Given the description of an element on the screen output the (x, y) to click on. 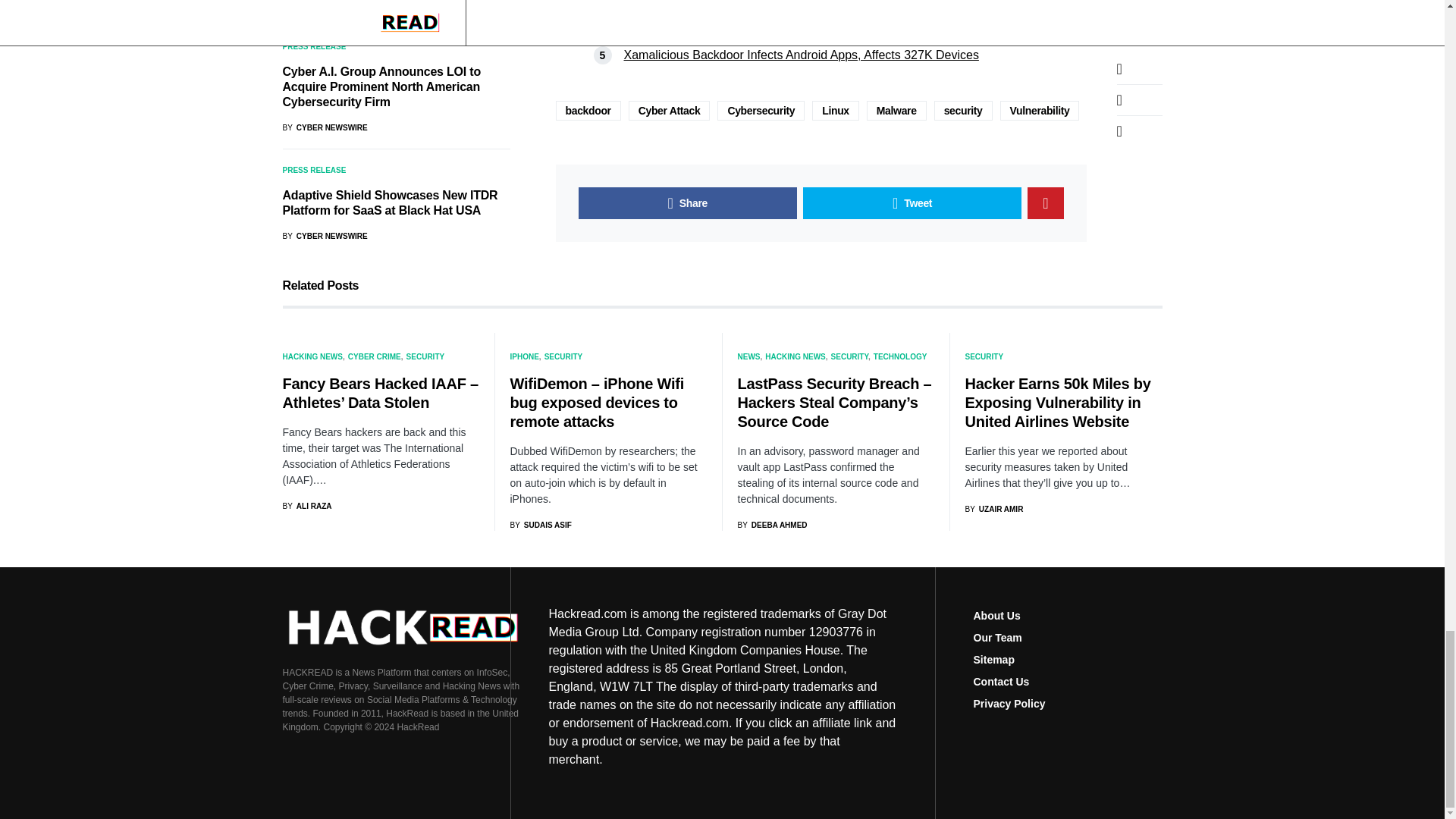
View all posts by Deeba Ahmed (771, 524)
View all posts by Uzair Amir (993, 509)
View all posts by Ali Raza (306, 505)
View all posts by Sudais Asif (539, 524)
